Given the description of an element on the screen output the (x, y) to click on. 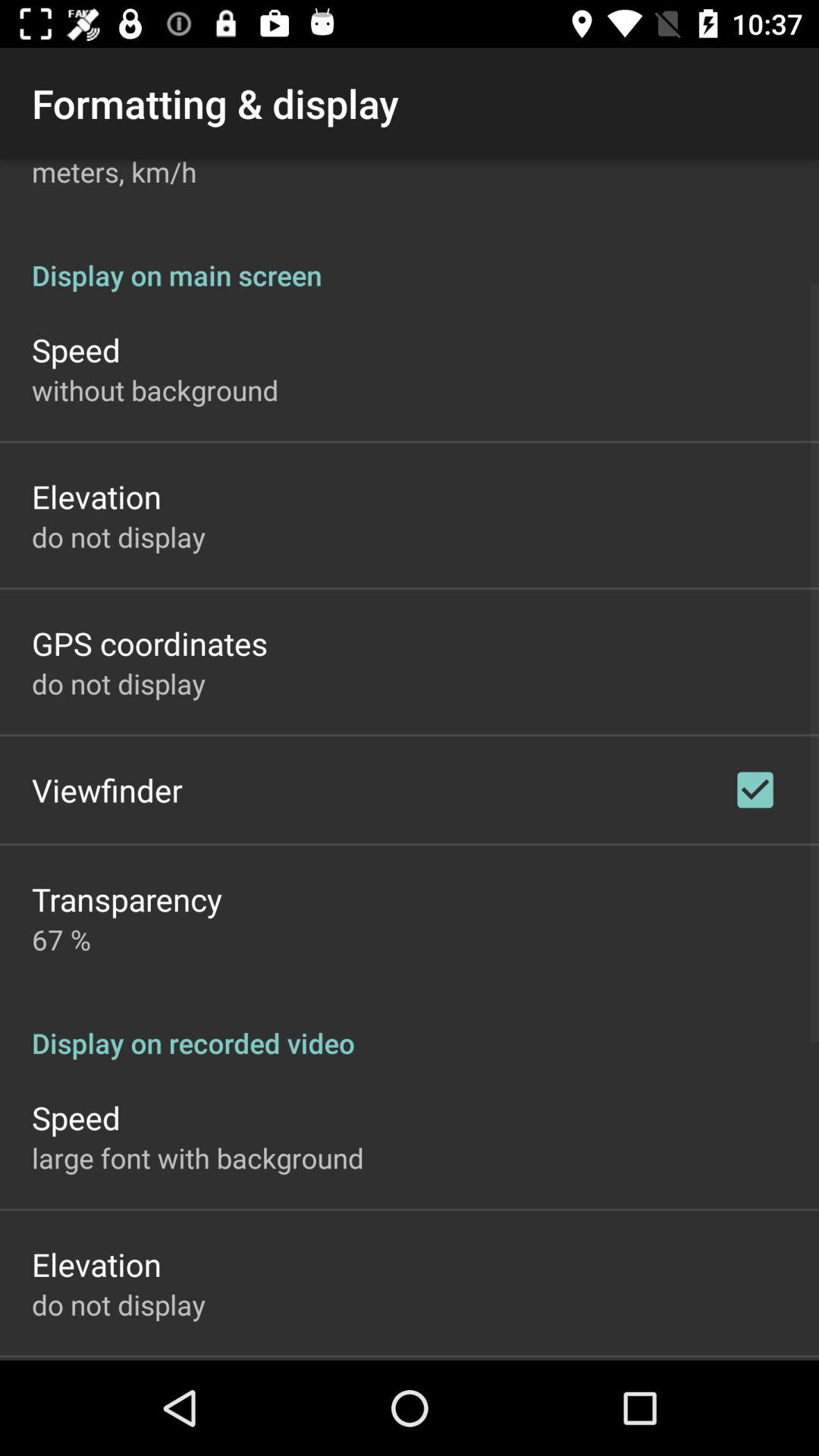
scroll until the large font with icon (197, 1157)
